Given the description of an element on the screen output the (x, y) to click on. 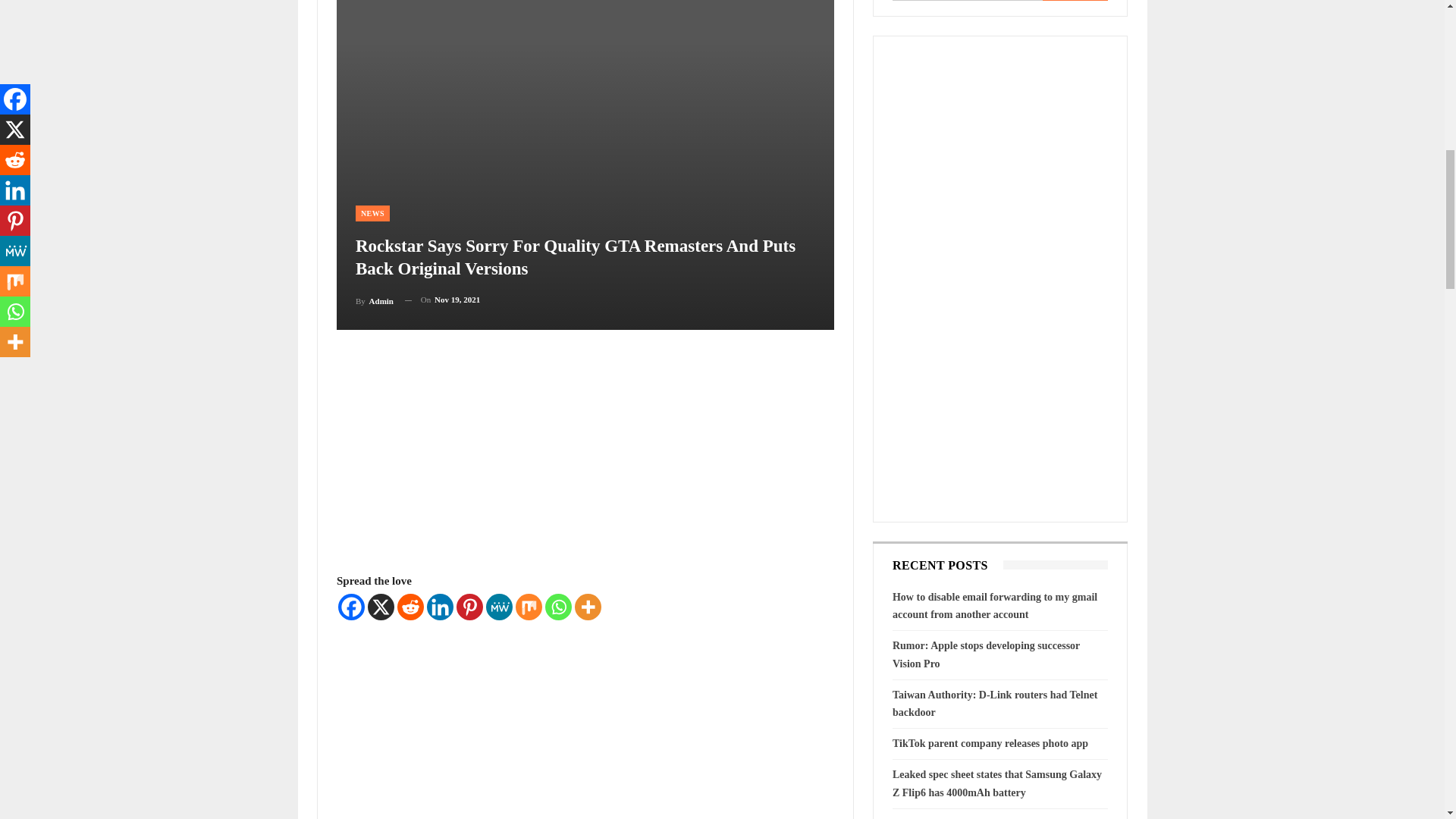
NEWS (372, 213)
MeWe (499, 605)
More (588, 605)
Whatsapp (558, 605)
Facebook (351, 605)
By Admin (374, 299)
Browse Author Articles (374, 299)
X (381, 605)
Mix (528, 605)
Pinterest (470, 605)
Linkedin (439, 605)
Reddit (410, 605)
